Given the description of an element on the screen output the (x, y) to click on. 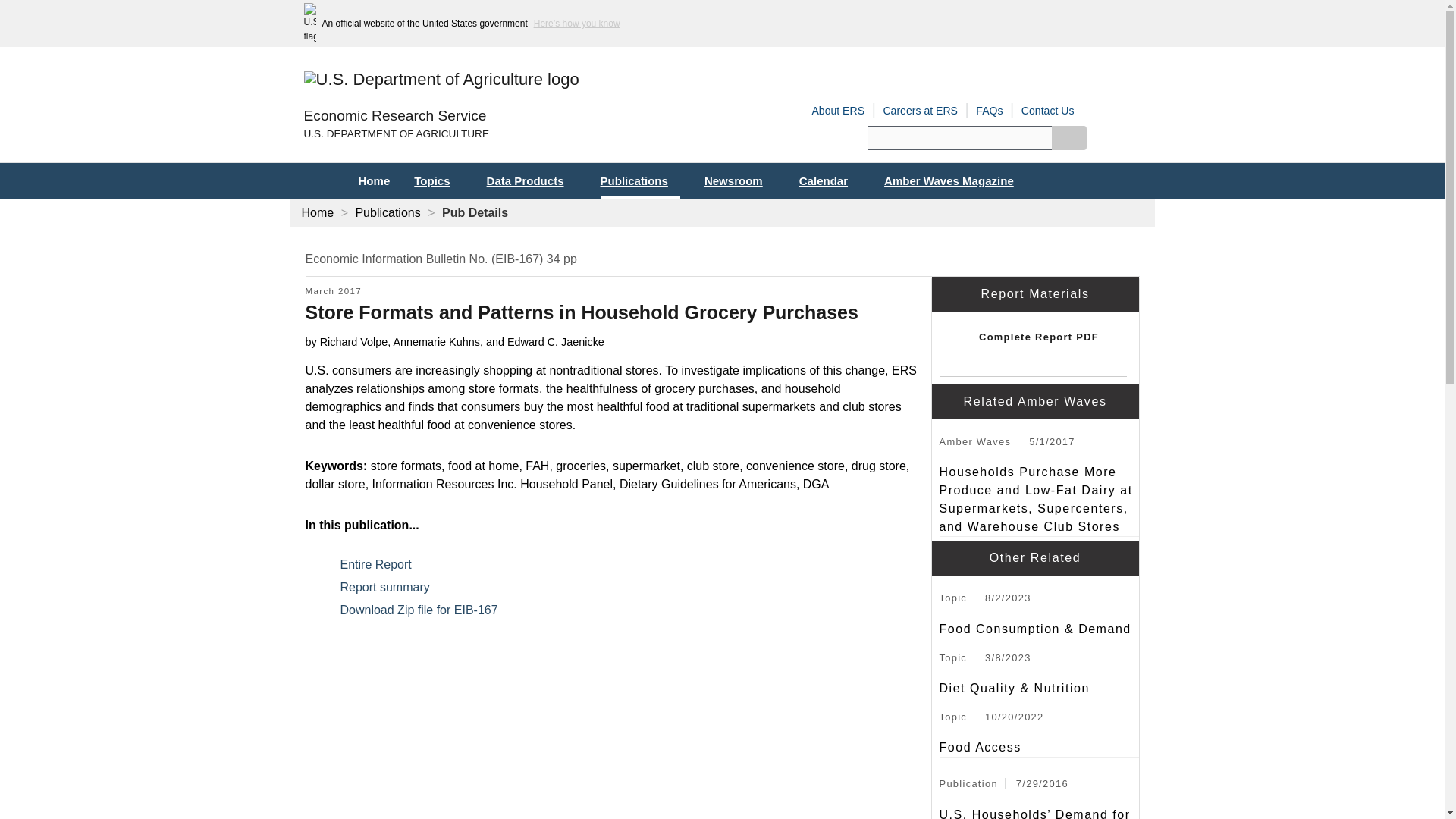
Report summary (392, 586)
Careers at ERS (920, 110)
Home (394, 115)
U.S. DEPARTMENT OF AGRICULTURE (512, 134)
Contact Us (1048, 110)
Amber Waves Magazine (955, 180)
Home (373, 180)
FAQs (989, 110)
Food Access (1038, 747)
